Given the description of an element on the screen output the (x, y) to click on. 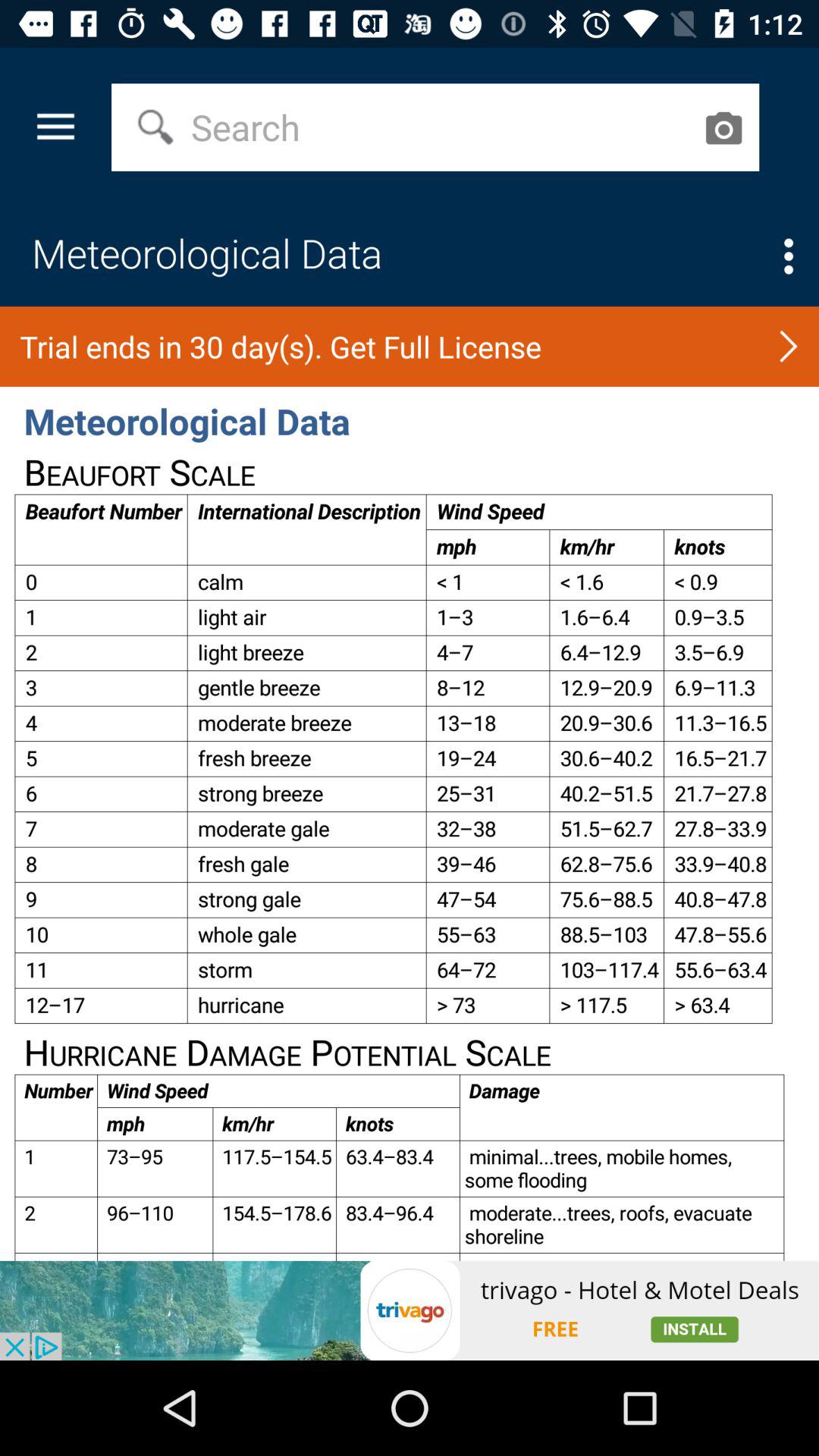
go to menu (788, 256)
